Given the description of an element on the screen output the (x, y) to click on. 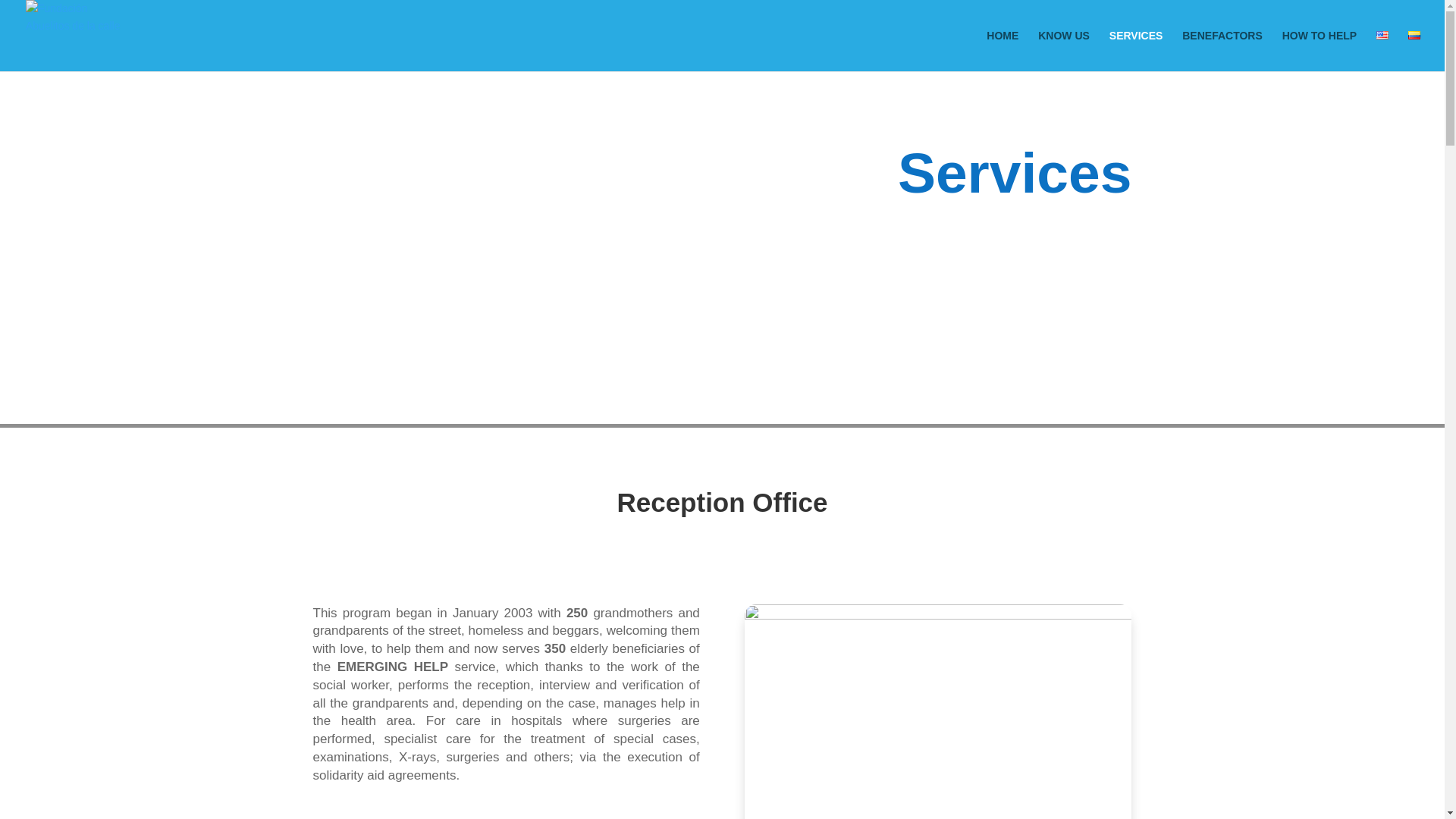
KNOW US (1063, 50)
SERVICES (1136, 50)
BENEFACTORS (1222, 50)
Despacho (937, 711)
HOW TO HELP (1319, 50)
